Given the description of an element on the screen output the (x, y) to click on. 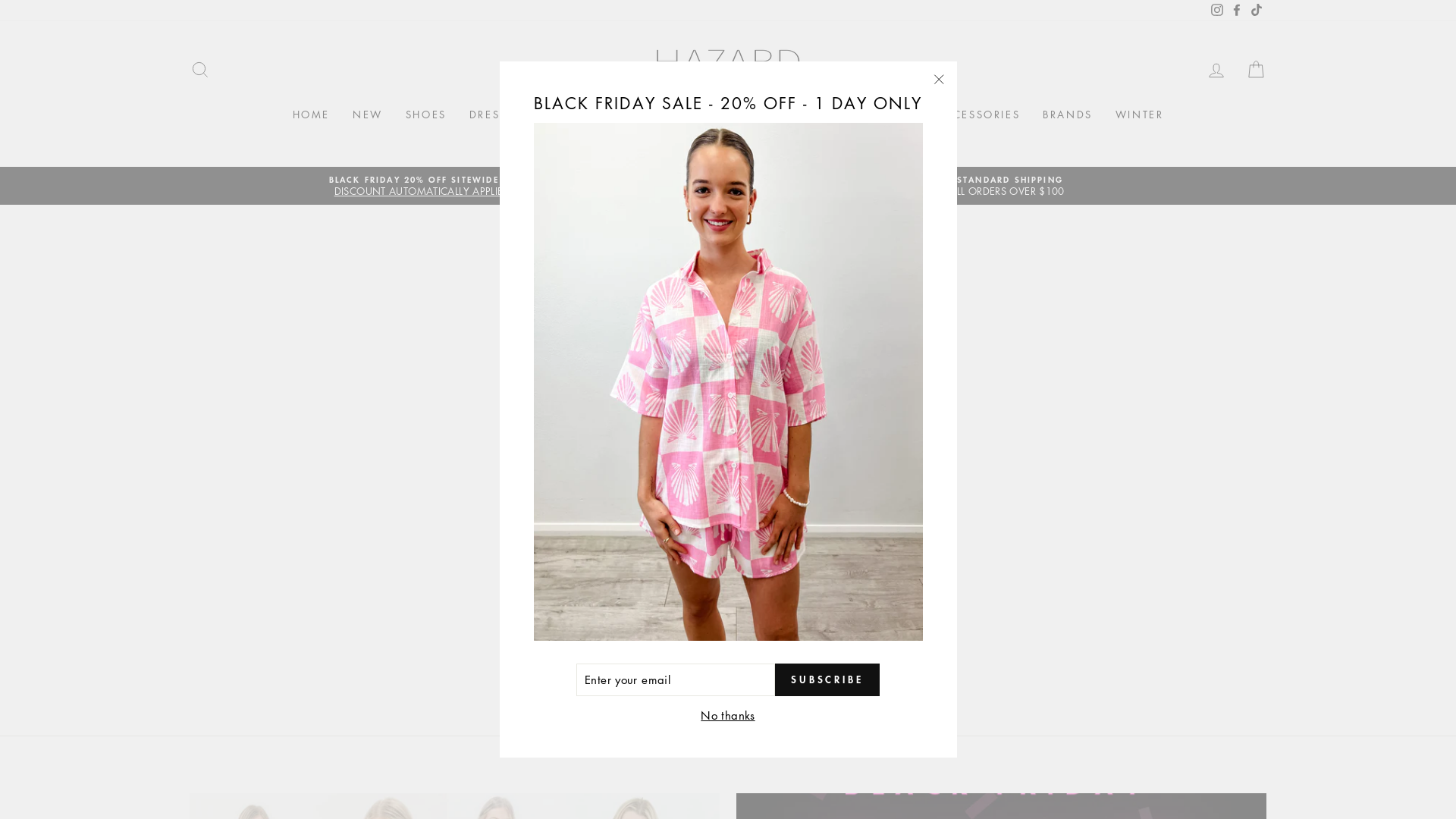
TOPS Element type: text (700, 115)
SUBSCRIBE Element type: text (827, 679)
PANTS Element type: text (892, 115)
BRANDS Element type: text (1067, 115)
CART Element type: text (1255, 69)
SEARCH Element type: text (199, 69)
SHORTS Element type: text (825, 115)
LOG IN Element type: text (1216, 69)
SHOES Element type: text (426, 115)
DRESSES Element type: text (495, 115)
WINTER Element type: text (1139, 115)
JUMPSUITS Element type: text (627, 115)
No thanks Element type: text (727, 715)
SETS Element type: text (558, 115)
Instagram Element type: text (1216, 10)
TikTok Element type: text (1256, 10)
Facebook Element type: text (1236, 10)
Continue shopping Element type: text (727, 383)
BUMP/ FEEDING FRIENDLY Element type: text (656, 139)
NEW Element type: text (367, 115)
GIFT CARD Element type: text (795, 139)
Skip to content Element type: text (0, 0)
SKIRTS Element type: text (758, 115)
ACCESSORIES Element type: text (978, 115)
"Close (esc)" Element type: text (938, 79)
SALE Element type: text (865, 139)
HOME Element type: text (311, 115)
